Given the description of an element on the screen output the (x, y) to click on. 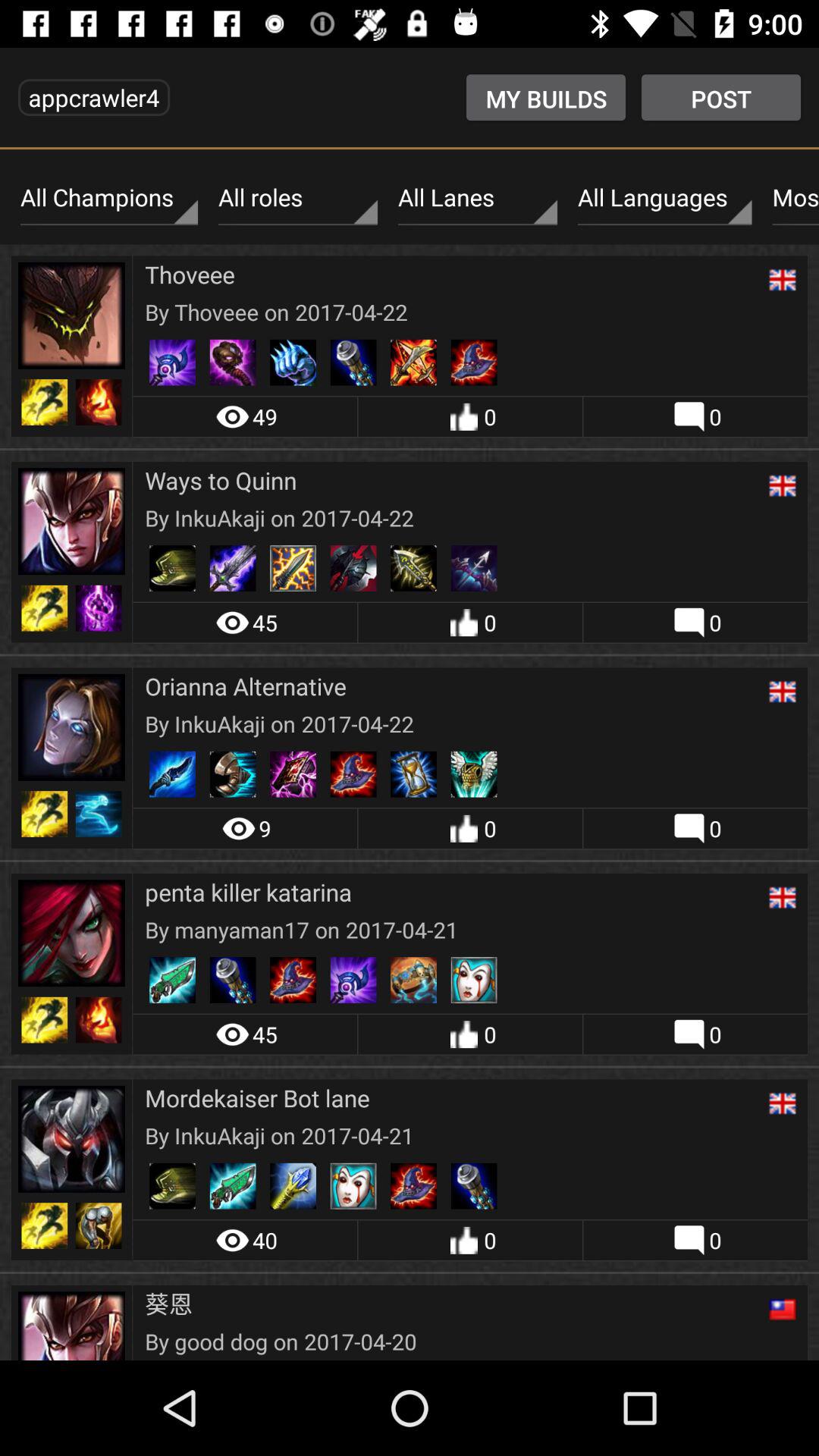
select the icon to the left of the post item (545, 97)
